Given the description of an element on the screen output the (x, y) to click on. 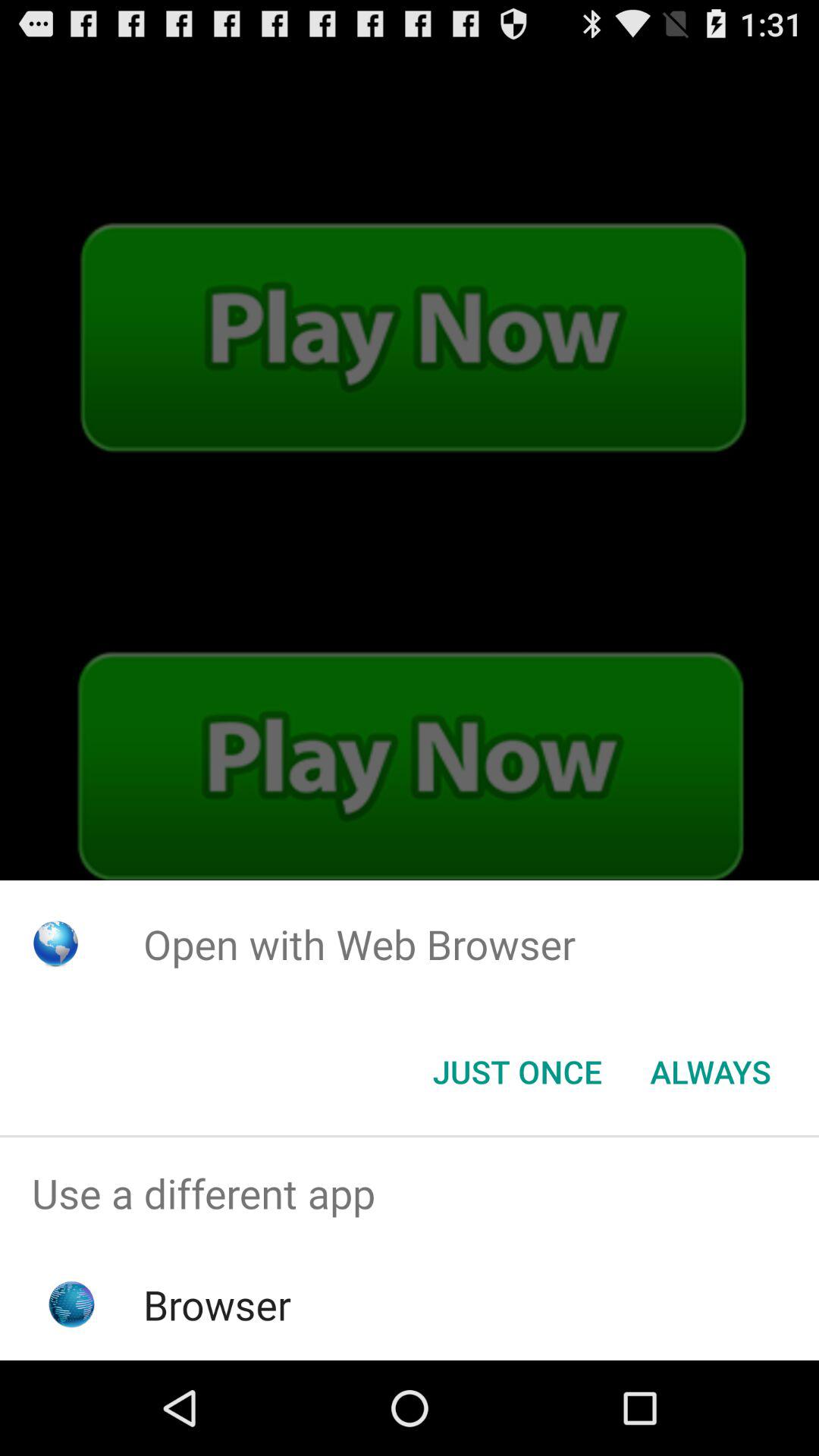
swipe to use a different app (409, 1192)
